Given the description of an element on the screen output the (x, y) to click on. 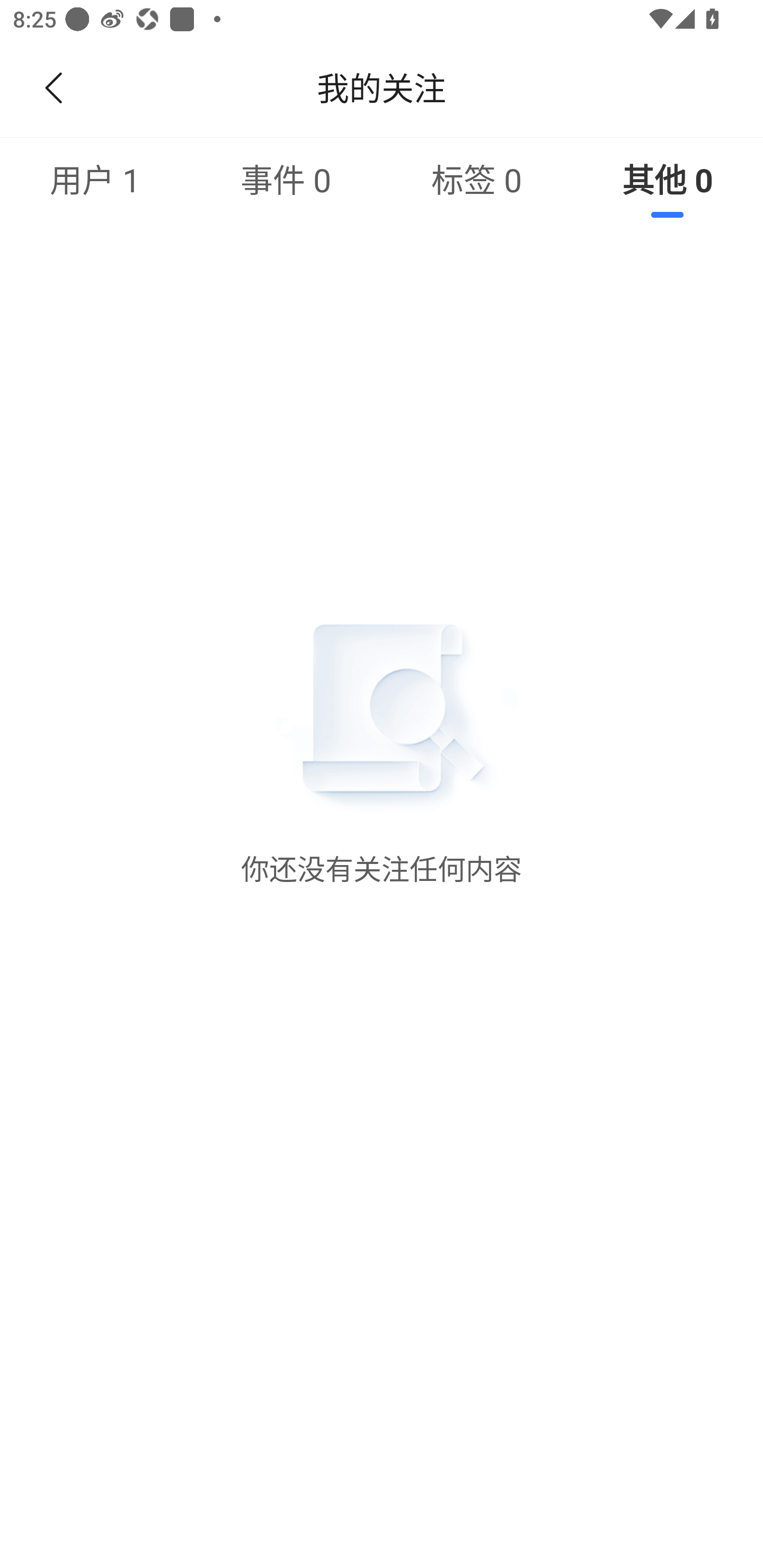
返回，可点击 (49, 87)
用户&nbsp;1，可选中 (95, 179)
事件&nbsp;0，可选中 (285, 179)
标签&nbsp;0，可选中 (476, 179)
已选中其他&nbsp;0 (667, 179)
